Given the description of an element on the screen output the (x, y) to click on. 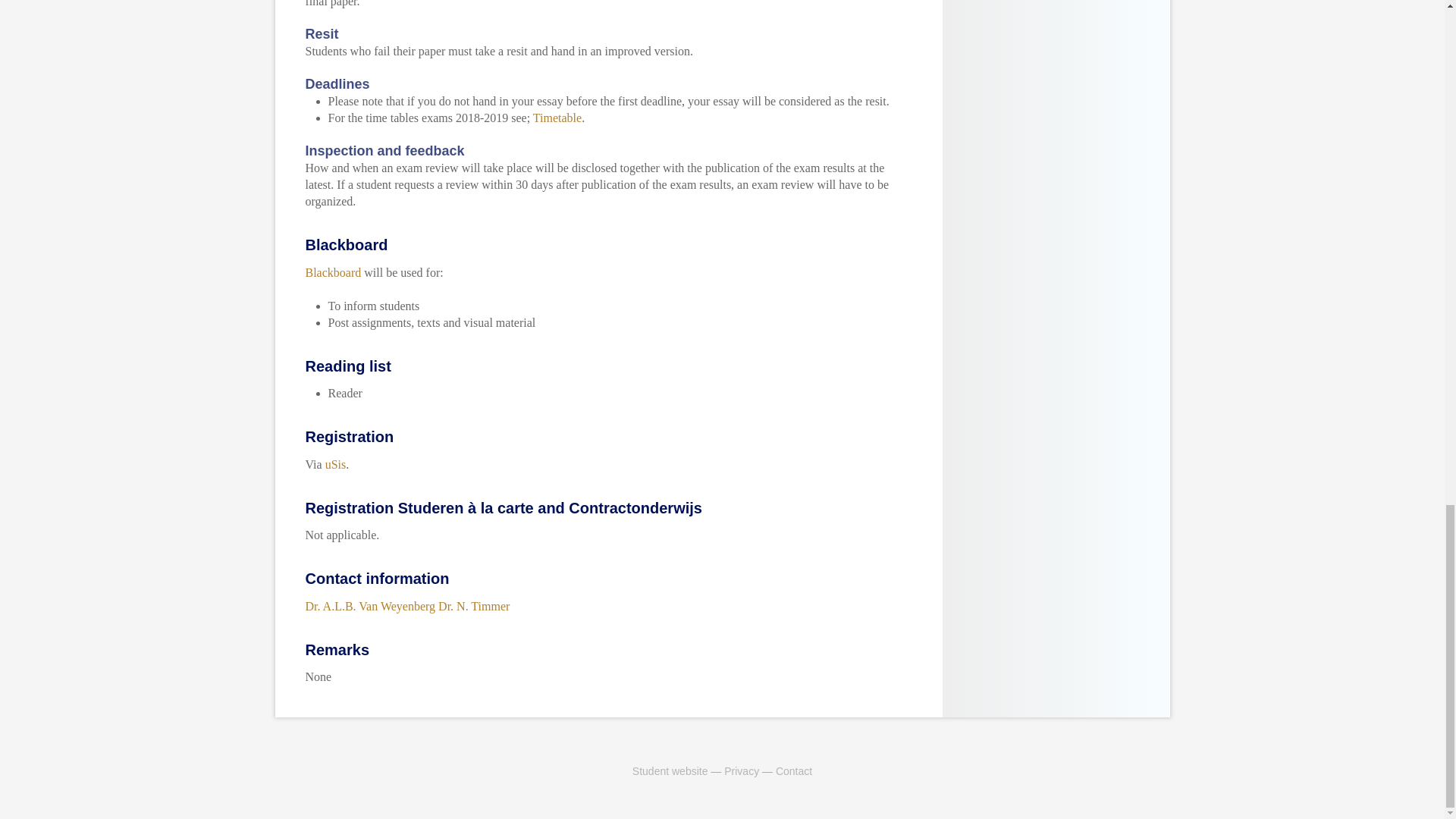
Dr. A.L.B. Van Weyenberg (369, 605)
Timetable (556, 117)
Contact (794, 770)
Student website (669, 770)
Privacy (740, 770)
Dr. N. Timmer (473, 605)
Blackboard (332, 272)
uSis (335, 463)
